Given the description of an element on the screen output the (x, y) to click on. 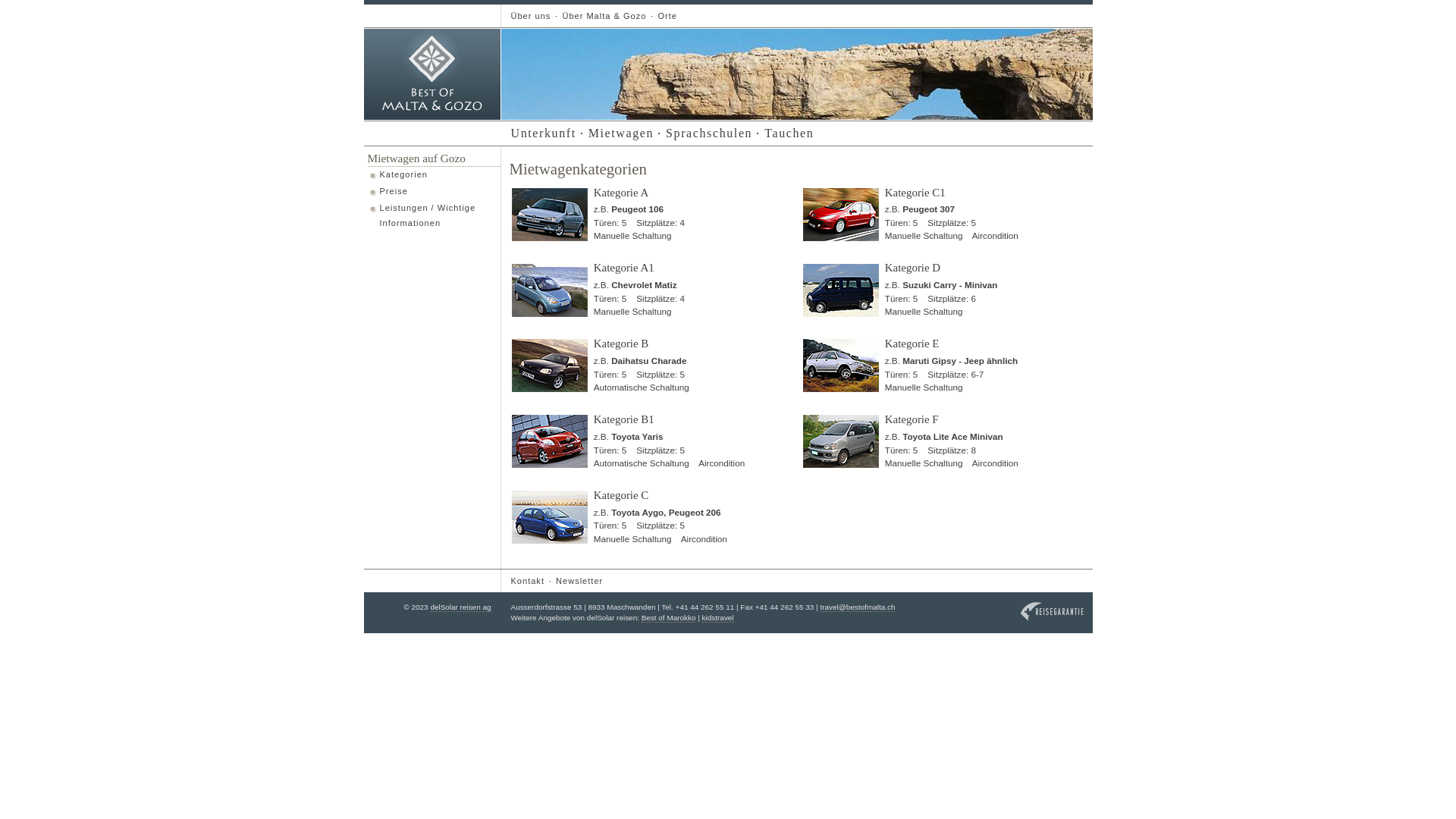
Unterkunft Element type: text (541, 132)
Preise Element type: text (433, 191)
Best of Marokko Element type: text (668, 617)
Kategorien Element type: text (433, 174)
delSolar reisen ag Element type: text (459, 606)
Best of Malta & Gozo - Main Element type: hover (432, 73)
Mietwagen Element type: text (619, 132)
Sprachschulen Element type: text (707, 132)
Reisegarantie Element type: text (1051, 611)
Kontakt Element type: text (526, 580)
Newsletter Element type: text (577, 580)
Orte Element type: text (665, 15)
Leistungen / Wichtige Informationen Element type: text (433, 216)
kidstravel Element type: text (718, 617)
travel@bestofmalta.ch Element type: text (856, 606)
Tauchen Element type: text (787, 132)
Mietwagen auf Gozo Element type: text (415, 157)
